Given the description of an element on the screen output the (x, y) to click on. 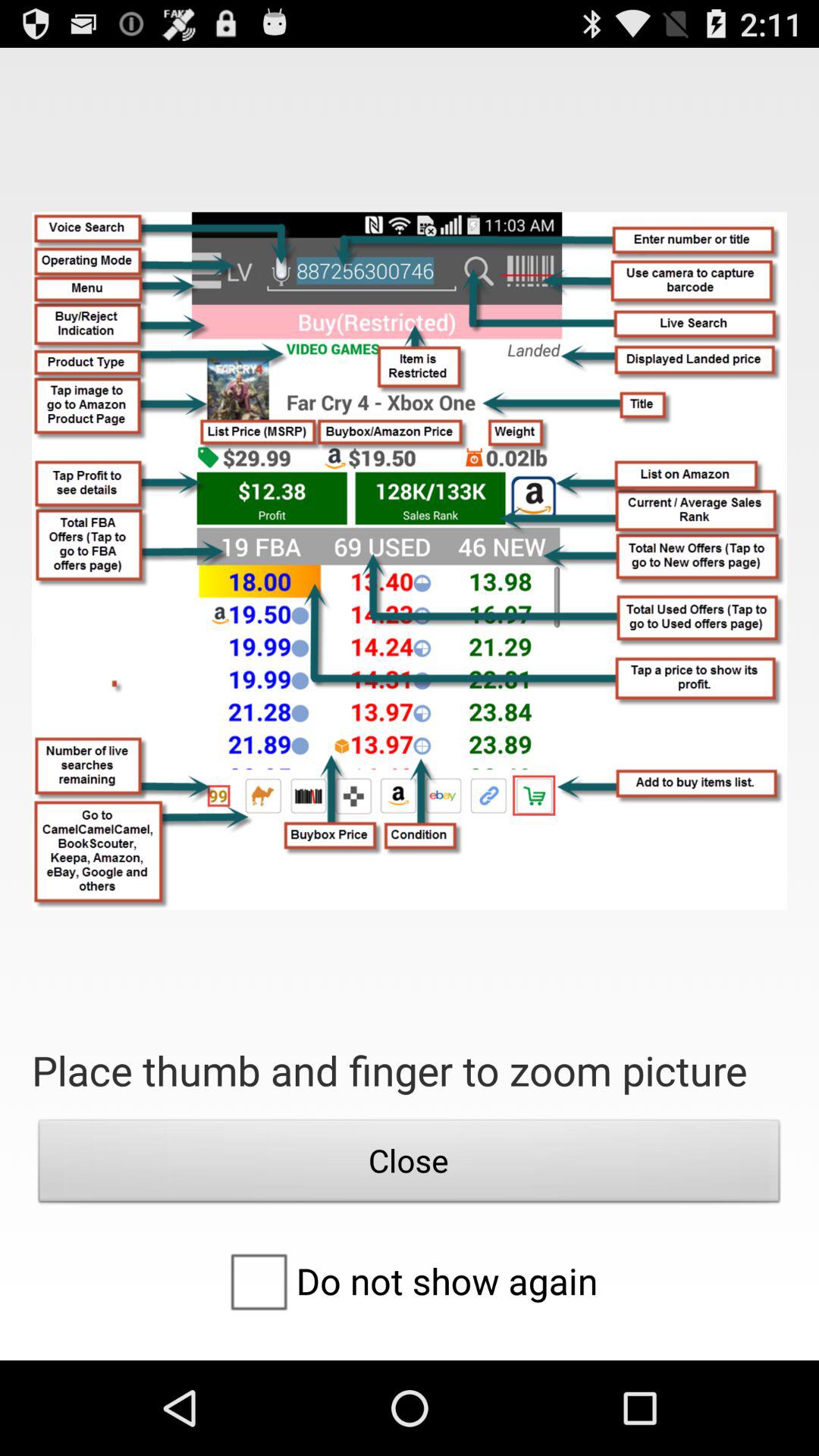
swipe until the do not show icon (408, 1280)
